Given the description of an element on the screen output the (x, y) to click on. 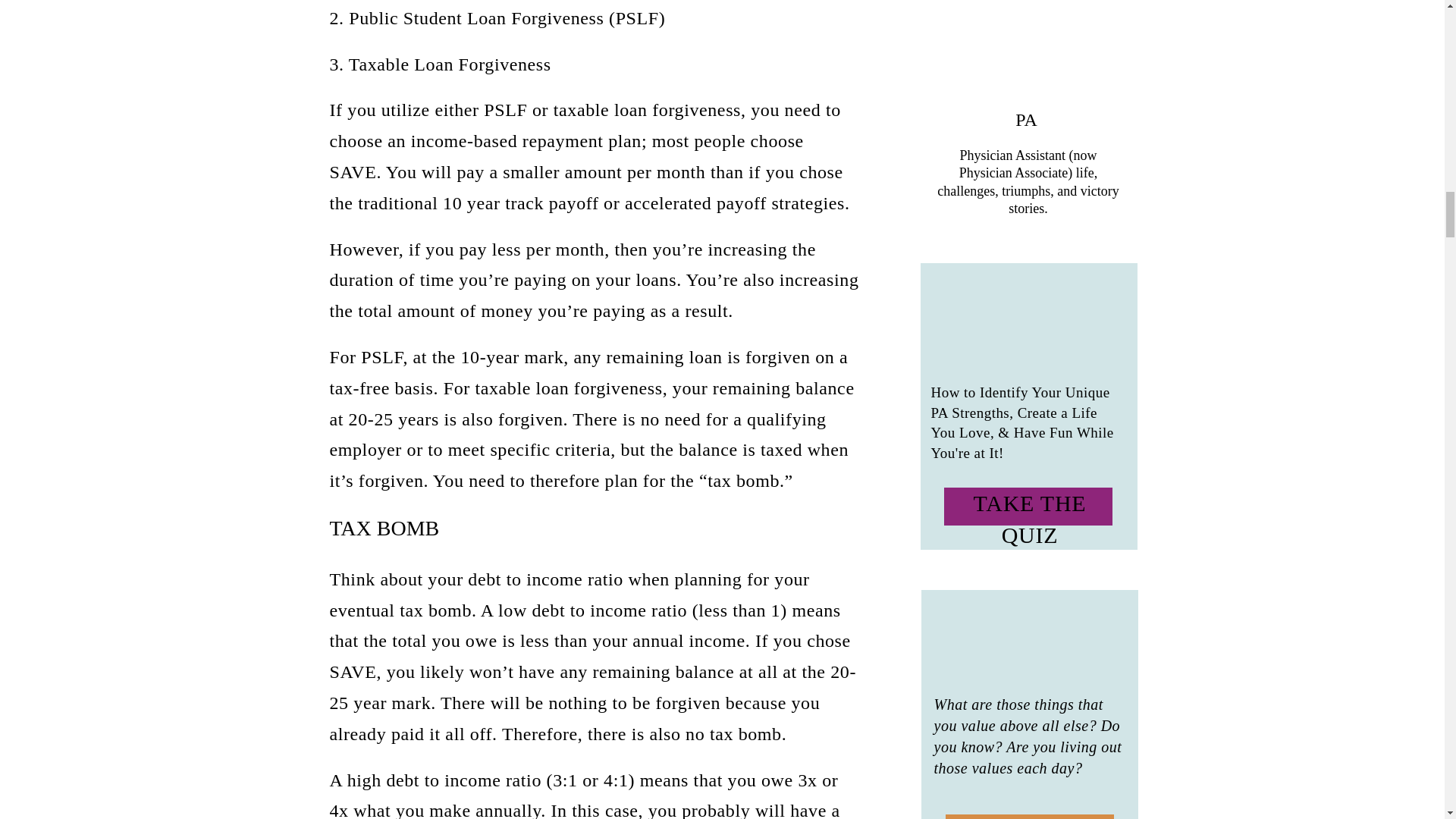
TAKE THE QUIZ (1029, 506)
